Given the description of an element on the screen output the (x, y) to click on. 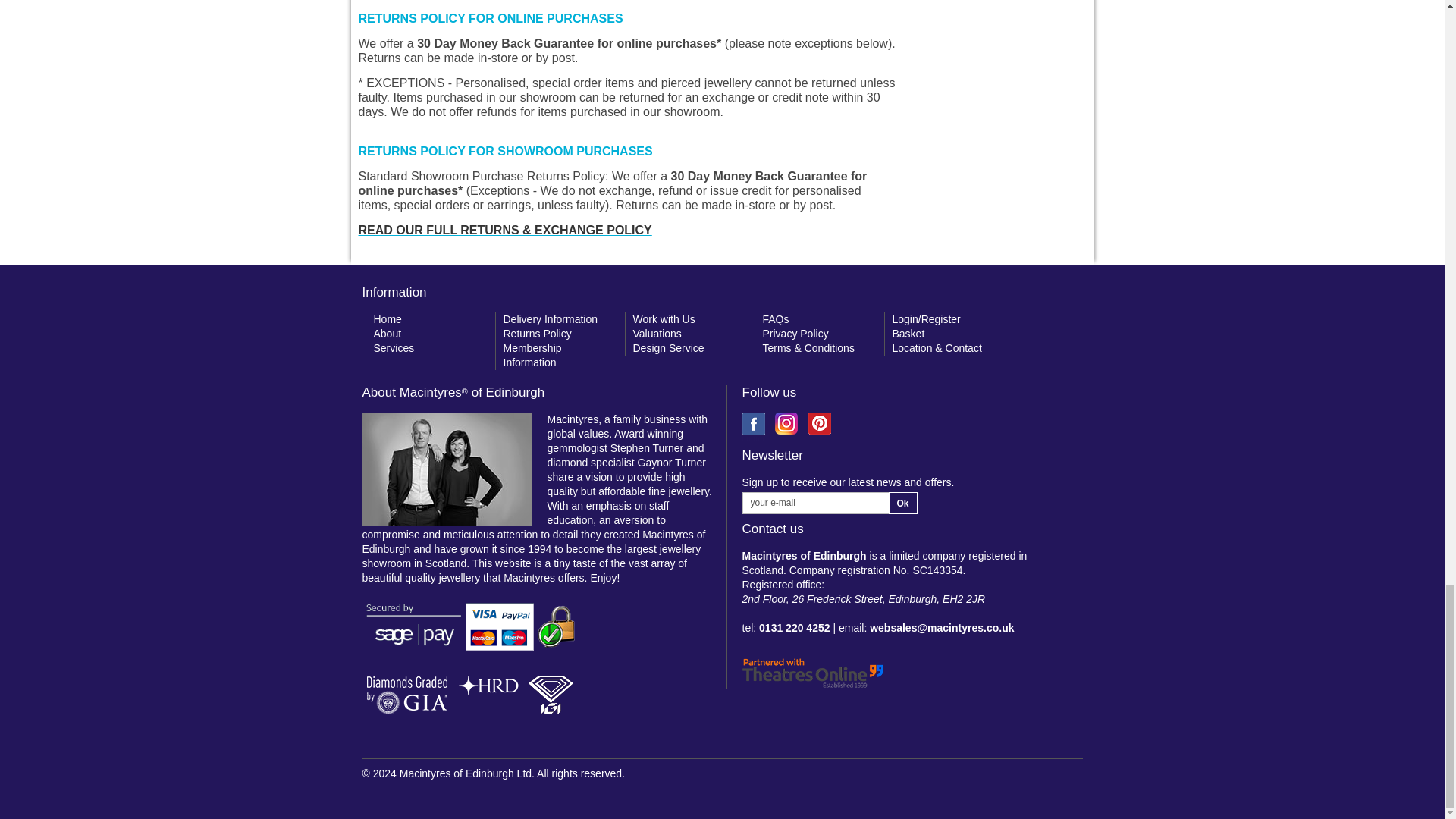
ok (902, 503)
your e-mail (814, 503)
